Given the description of an element on the screen output the (x, y) to click on. 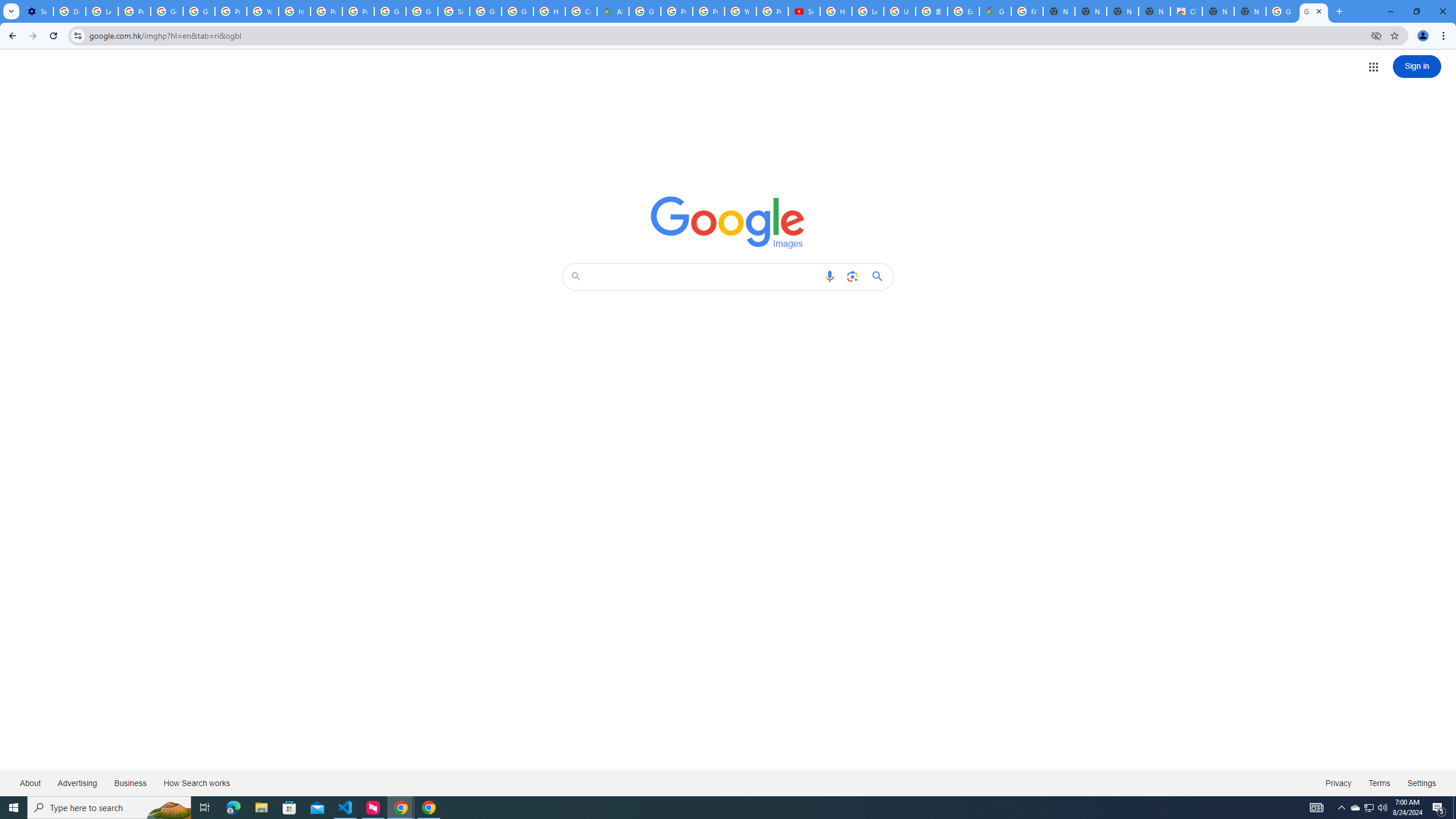
Chrome Web Store (1185, 11)
Settings - On startup (37, 11)
